Given the description of an element on the screen output the (x, y) to click on. 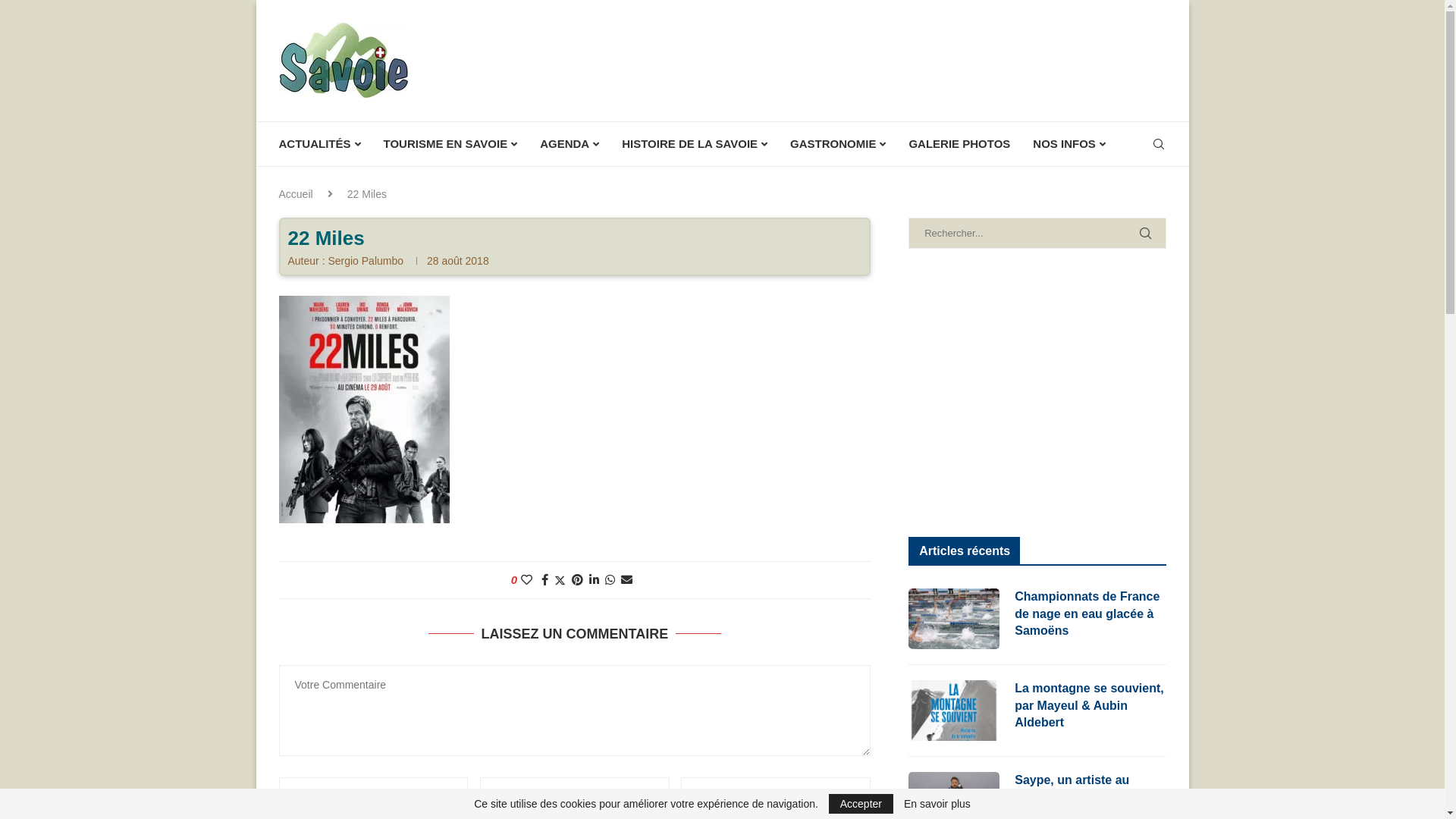
NOS INFOS Element type: text (1068, 144)
Advertisement Element type: hover (1036, 392)
Like Element type: hover (526, 579)
HISTOIRE DE LA SAVOIE Element type: text (694, 144)
Accepter Element type: text (860, 803)
Sergio Palumbo Element type: text (365, 260)
GALERIE PHOTOS Element type: text (959, 144)
Rechercher Element type: text (128, 15)
AGENDA Element type: text (569, 144)
GASTRONOMIE Element type: text (837, 144)
Accueil Element type: text (296, 194)
La montagne se souvient, par Mayeul & Aubin Aldebert Element type: hover (953, 710)
Advertisement Element type: hover (890, 59)
En savoir plus Element type: text (936, 803)
Saype, un artiste au sommet Element type: text (1089, 788)
La montagne se souvient, par Mayeul & Aubin Aldebert Element type: text (1089, 705)
TOURISME EN SAVOIE Element type: text (450, 144)
